Given the description of an element on the screen output the (x, y) to click on. 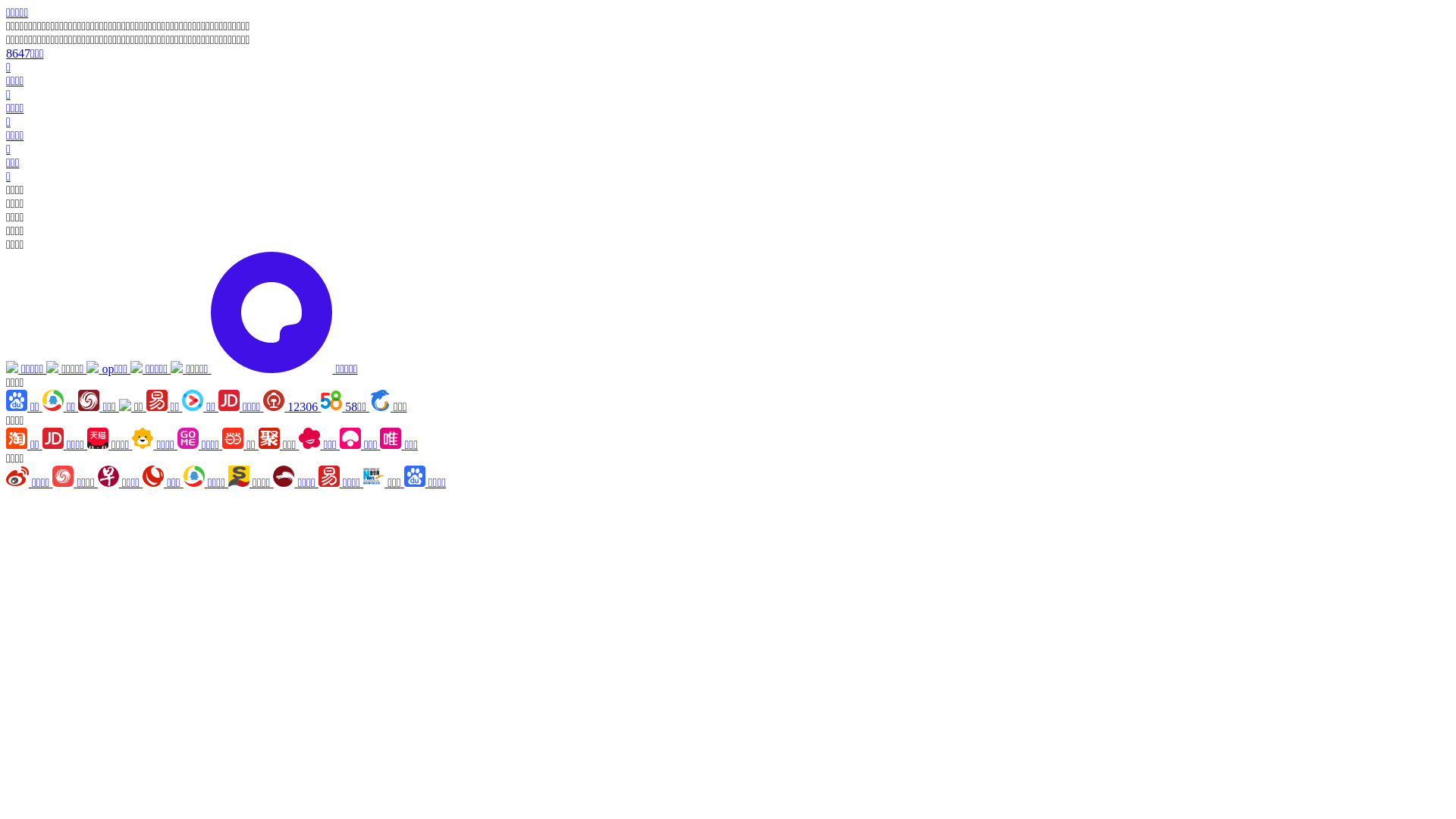
12306 Element type: text (291, 406)
